Given the description of an element on the screen output the (x, y) to click on. 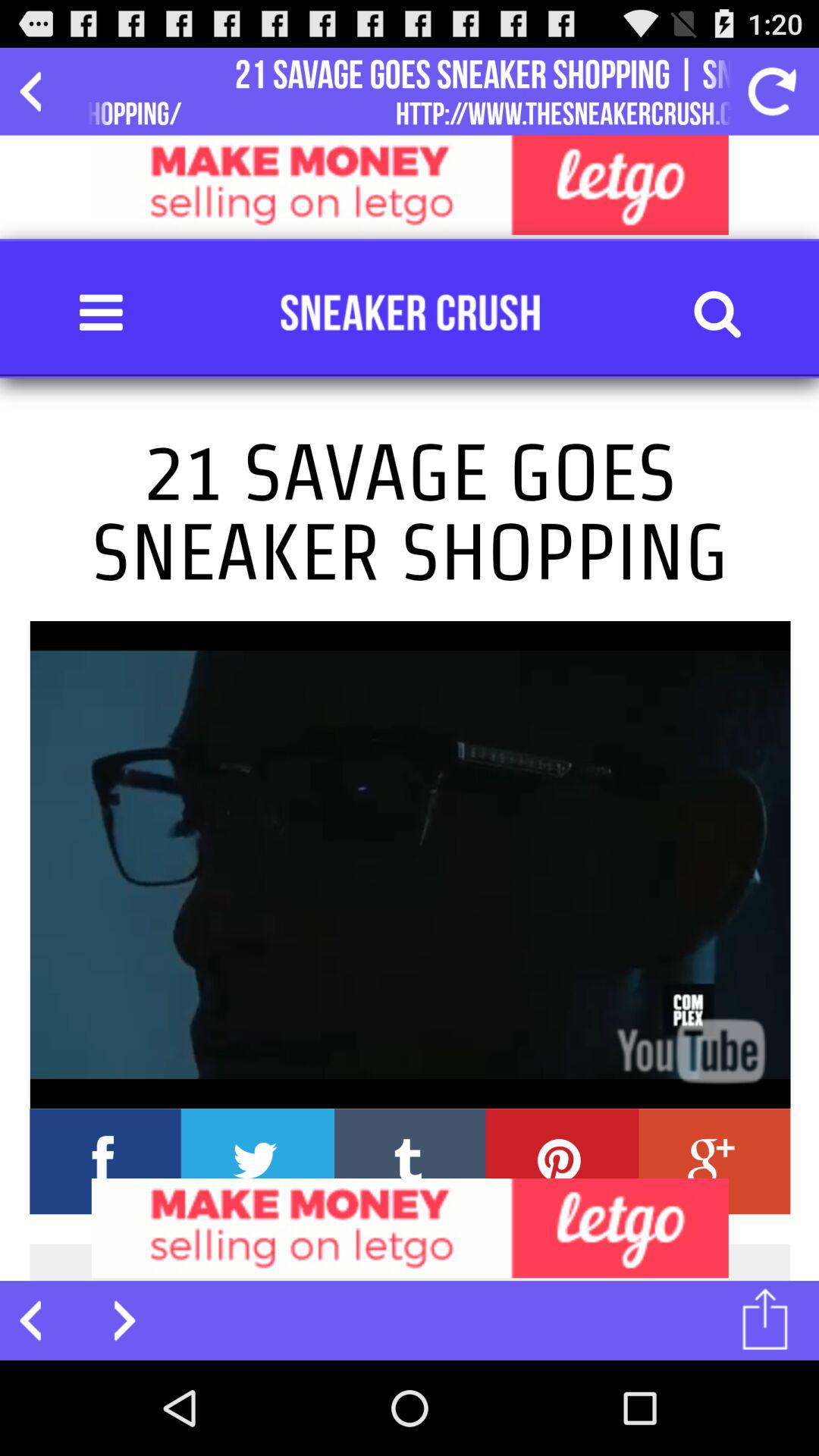
next article (115, 1320)
